Given the description of an element on the screen output the (x, y) to click on. 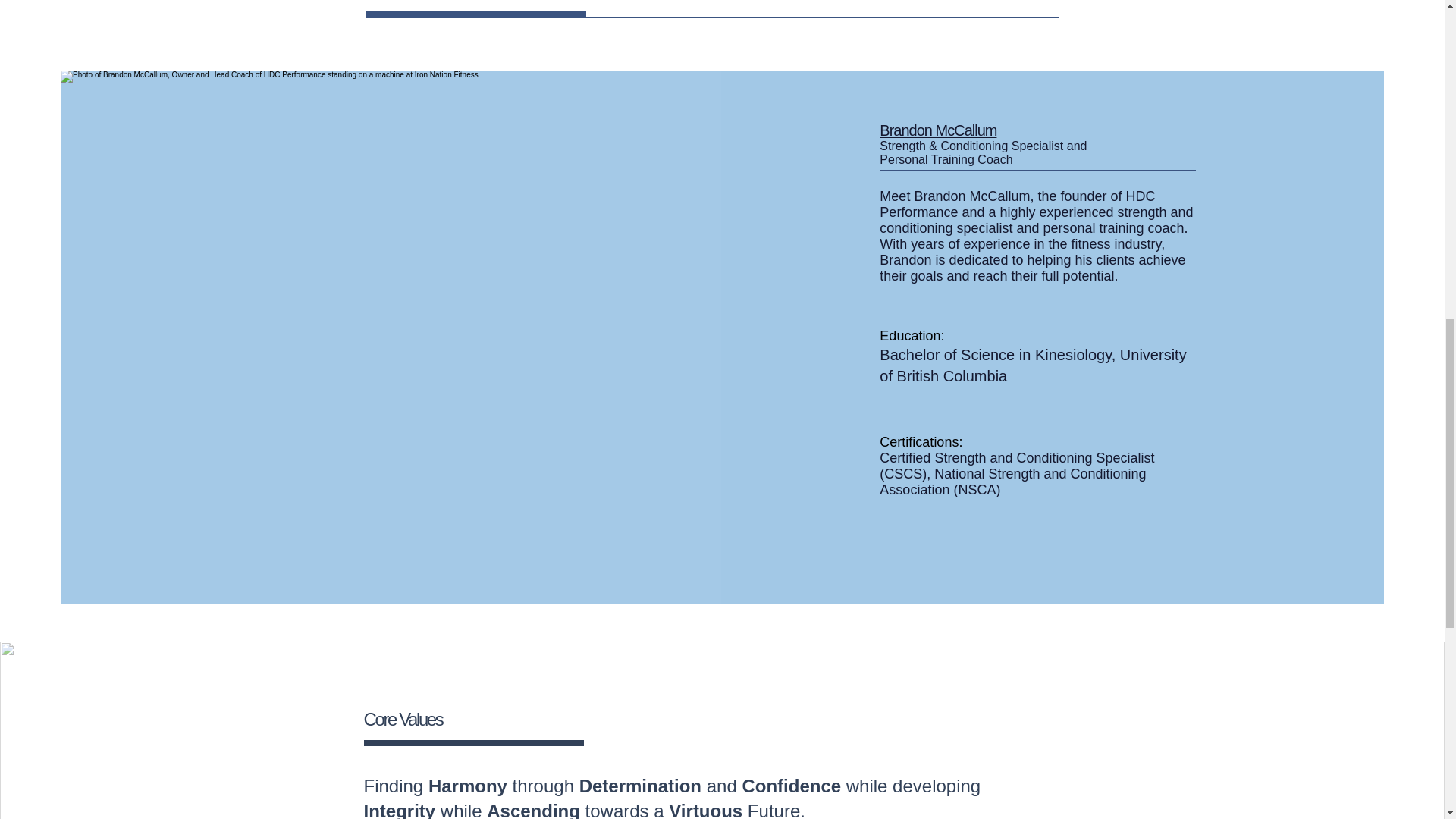
Brandon McCallum (937, 130)
